Given the description of an element on the screen output the (x, y) to click on. 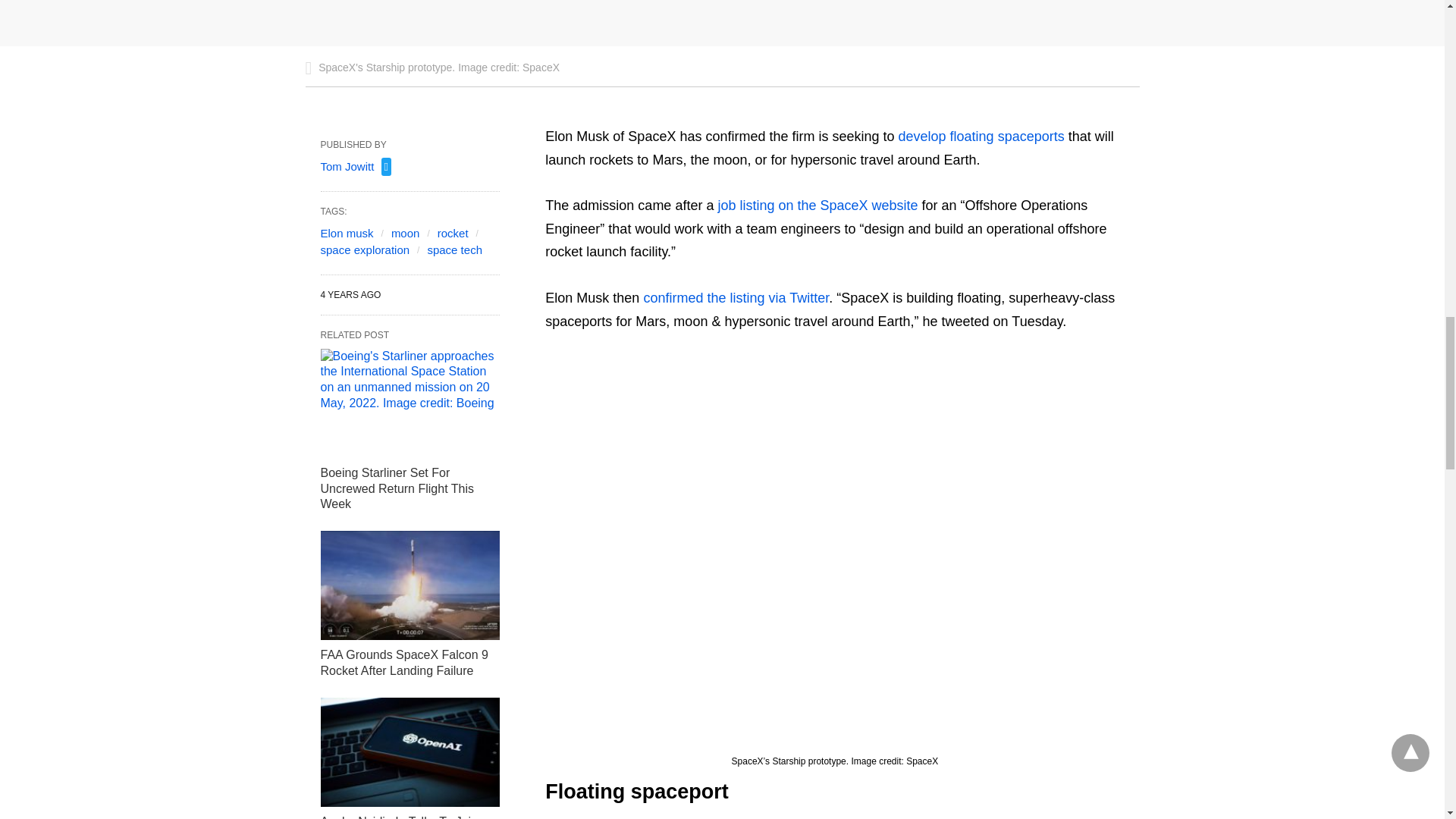
Elon musk (346, 232)
job listing on the SpaceX website (815, 205)
rocket (453, 232)
space tech (453, 249)
confirmed the listing via Twitter (735, 297)
develop floating spaceports (981, 136)
moon (405, 232)
space exploration (364, 249)
Boeing Starliner Set For Uncrewed Return Flight This Week (409, 402)
